Given the description of an element on the screen output the (x, y) to click on. 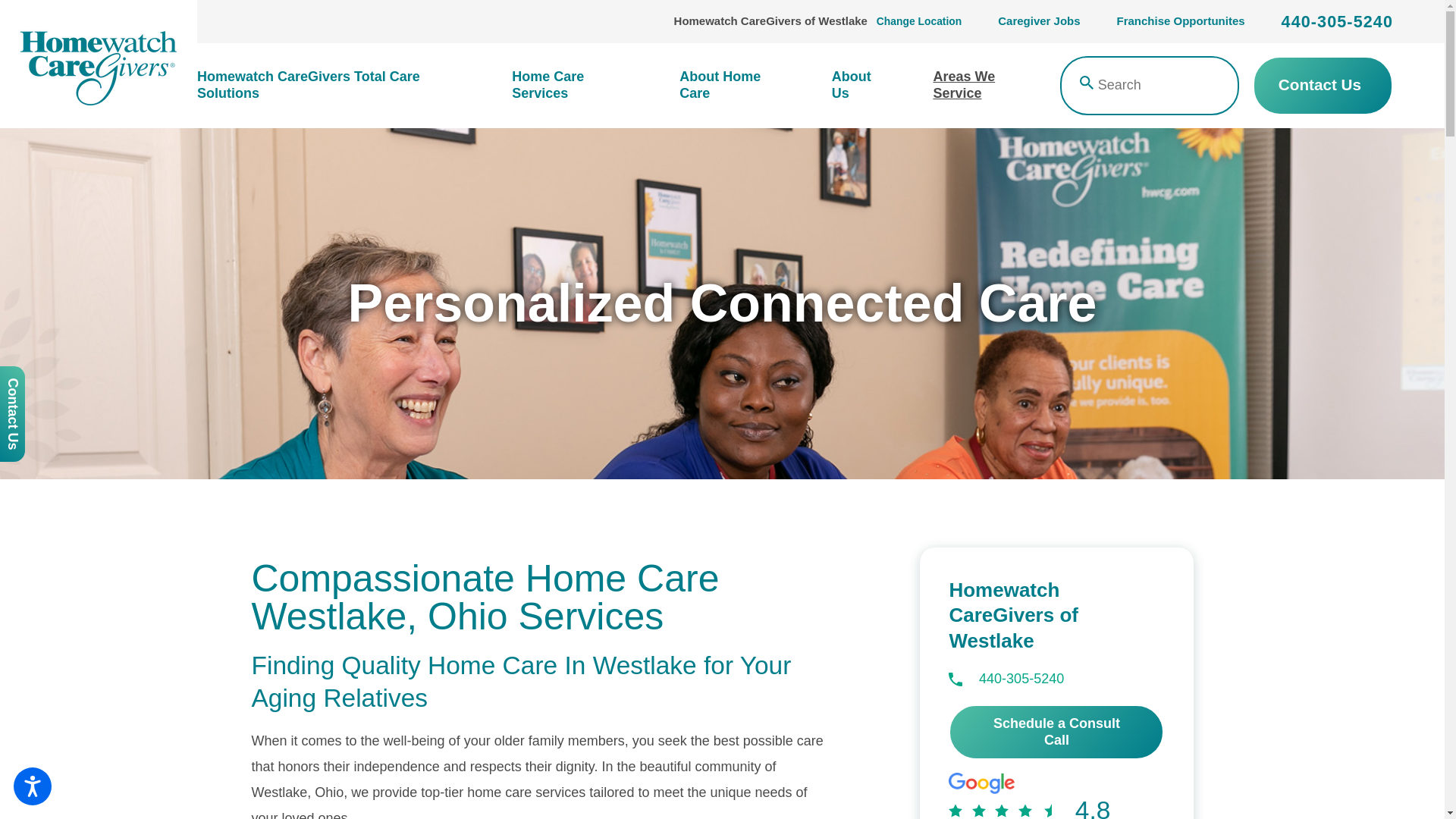
Homewatch CareGivers Total Care Solutions (341, 85)
Homewatch CareGivers of Westlake (98, 63)
Franchise Opportunites (1180, 20)
Home Care Services (571, 85)
Open the accessibility options menu (31, 786)
Change Location (918, 21)
440-305-5240 (1337, 21)
Caregiver Jobs (1038, 20)
